Given the description of an element on the screen output the (x, y) to click on. 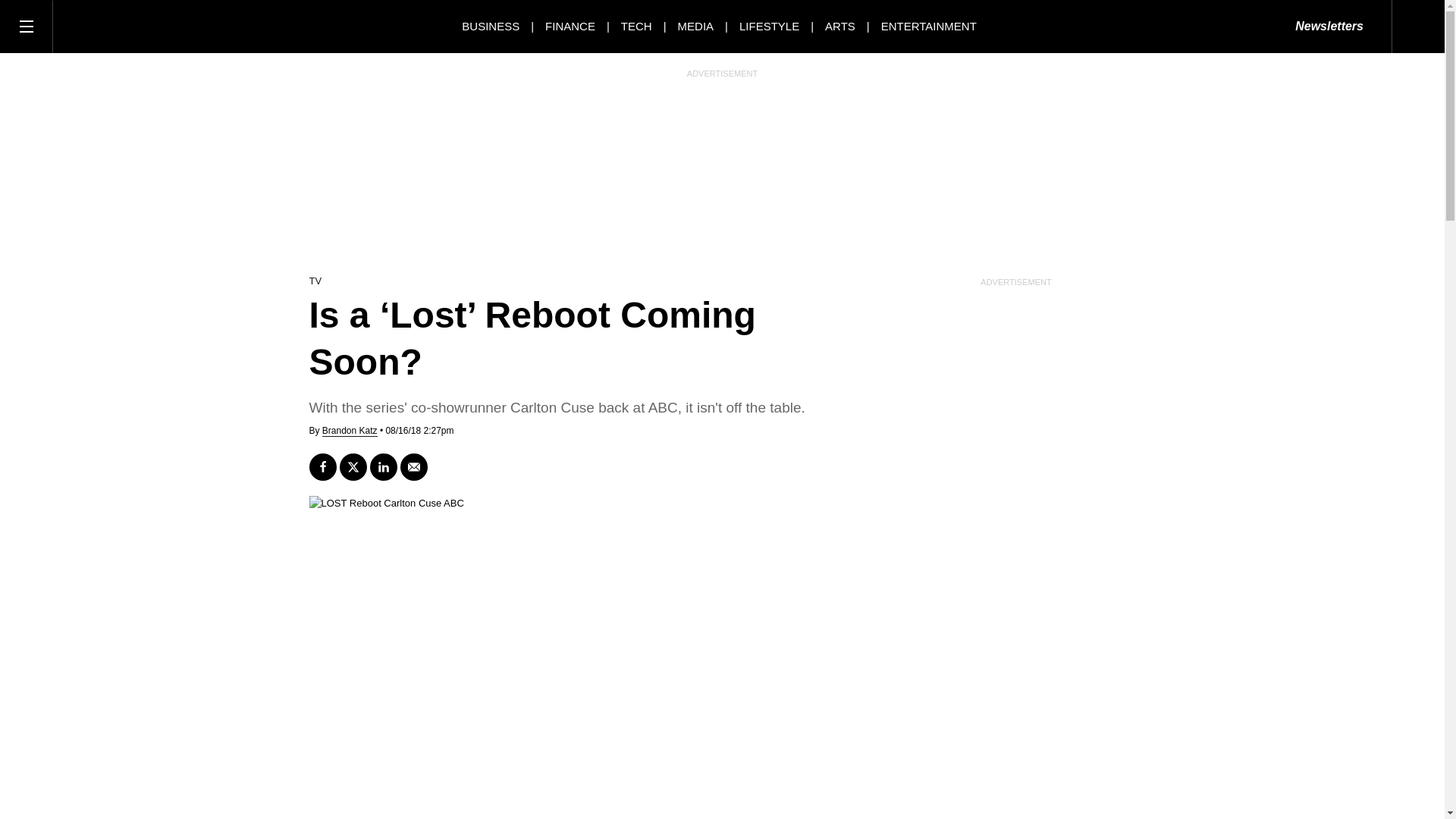
BUSINESS (490, 25)
ENTERTAINMENT (928, 25)
ARTS (840, 25)
LIFESTYLE (769, 25)
Tweet (352, 466)
Observer (121, 26)
Share on Facebook (322, 466)
MEDIA (696, 25)
Newsletters (1329, 26)
FINANCE (569, 25)
